Given the description of an element on the screen output the (x, y) to click on. 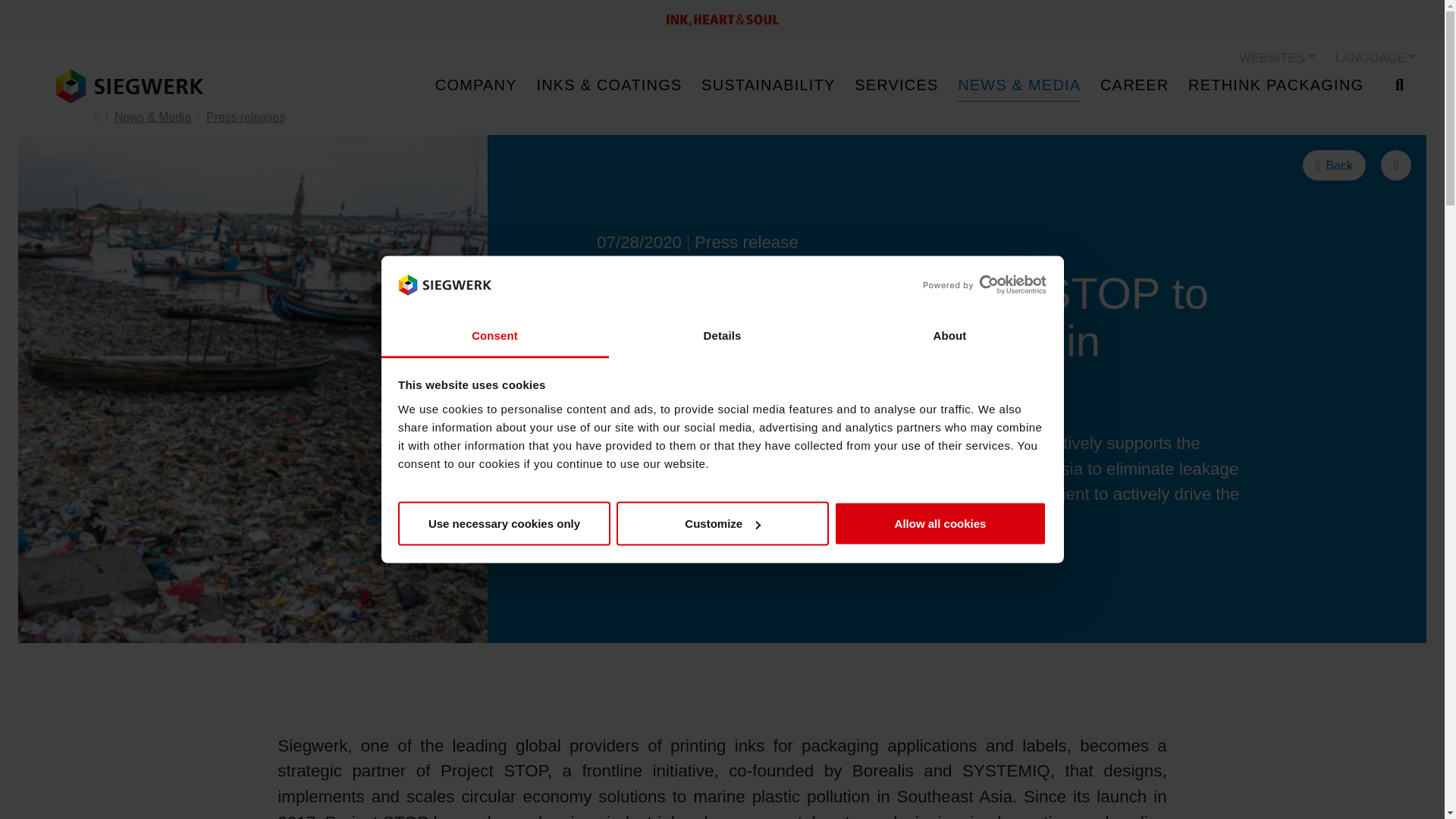
WEBSITES (1277, 57)
Website (1277, 57)
Use necessary cookies only (503, 524)
Homepage (129, 85)
Customize (721, 524)
Consent (494, 335)
Press releases (245, 116)
Allow all cookies (940, 524)
Details (721, 335)
Language (1375, 57)
About (948, 335)
